Given the description of an element on the screen output the (x, y) to click on. 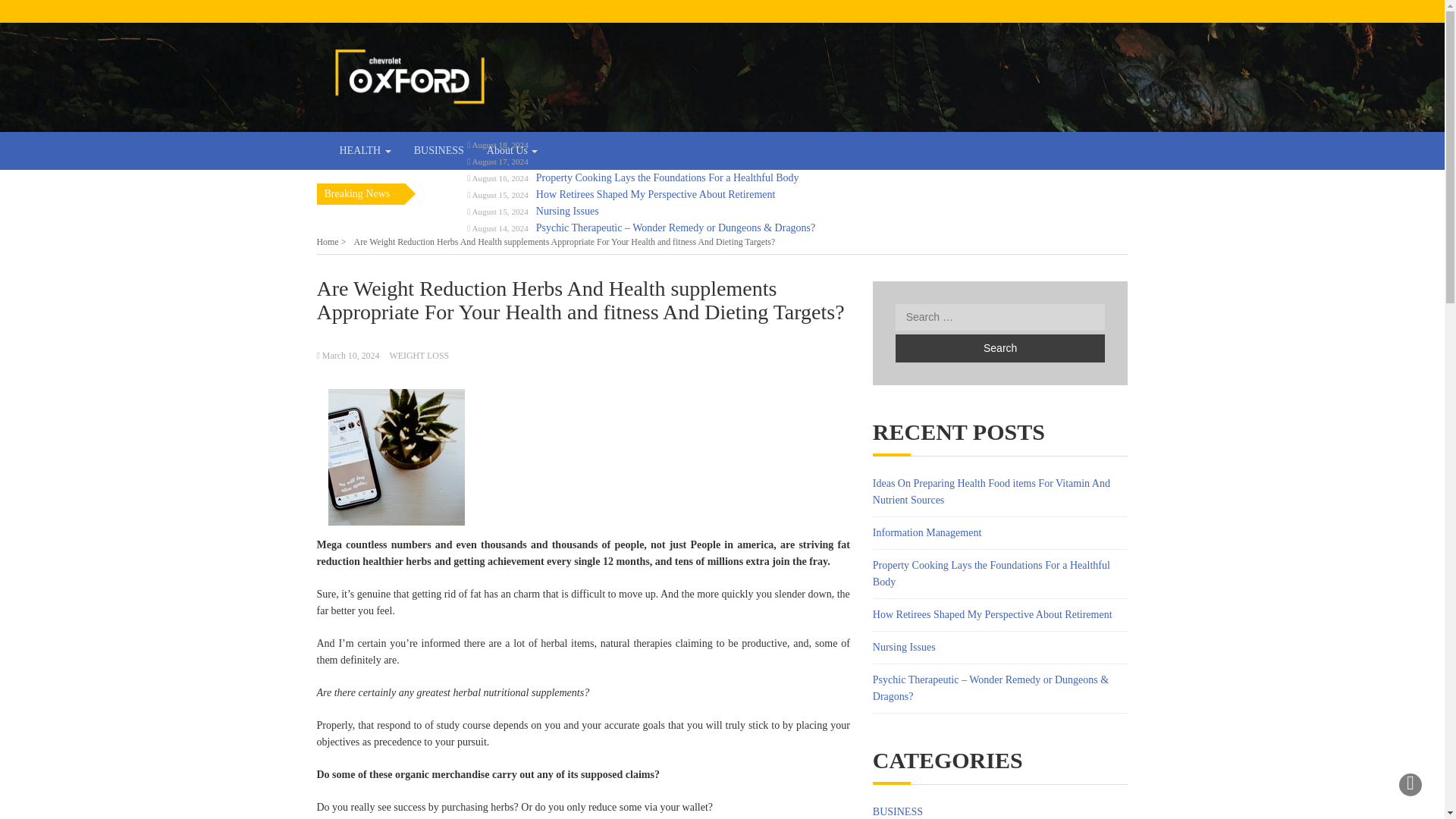
Property Cooking Lays the Foundations For a Healthful Body (990, 573)
Property Cooking Lays the Foundations For a Healthful Body (667, 177)
How Retirees Shaped My Perspective About Retirement (992, 614)
About Us (513, 150)
Information Management (590, 161)
WEIGHT LOSS (418, 355)
BUSINESS (439, 150)
Search (1000, 348)
